Given the description of an element on the screen output the (x, y) to click on. 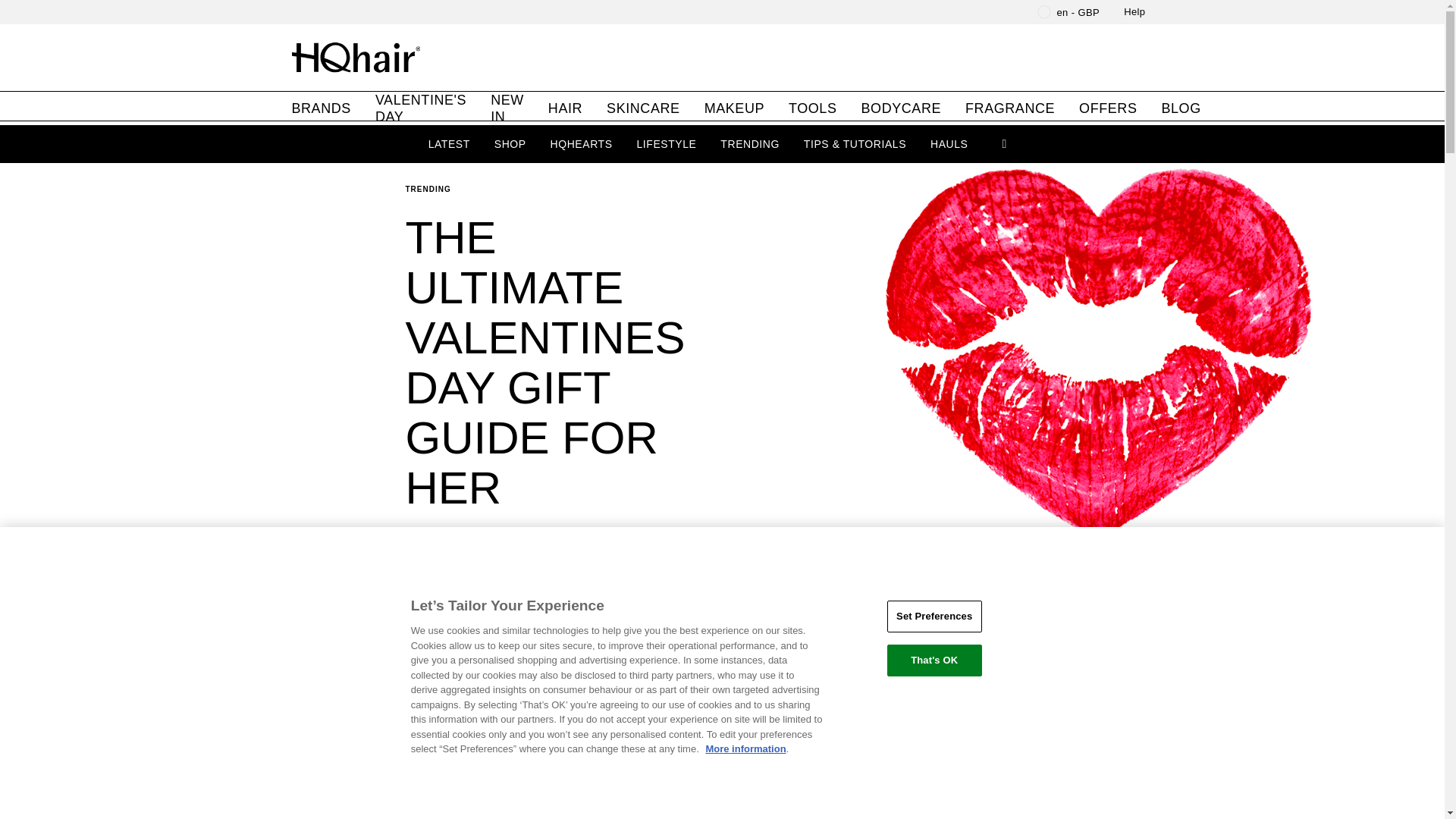
en - GBP (1069, 12)
Read more posts by  (490, 585)
Skip to main content (59, 9)
BRANDS (320, 105)
Help (1134, 12)
Read more Trending articles (563, 188)
